Given the description of an element on the screen output the (x, y) to click on. 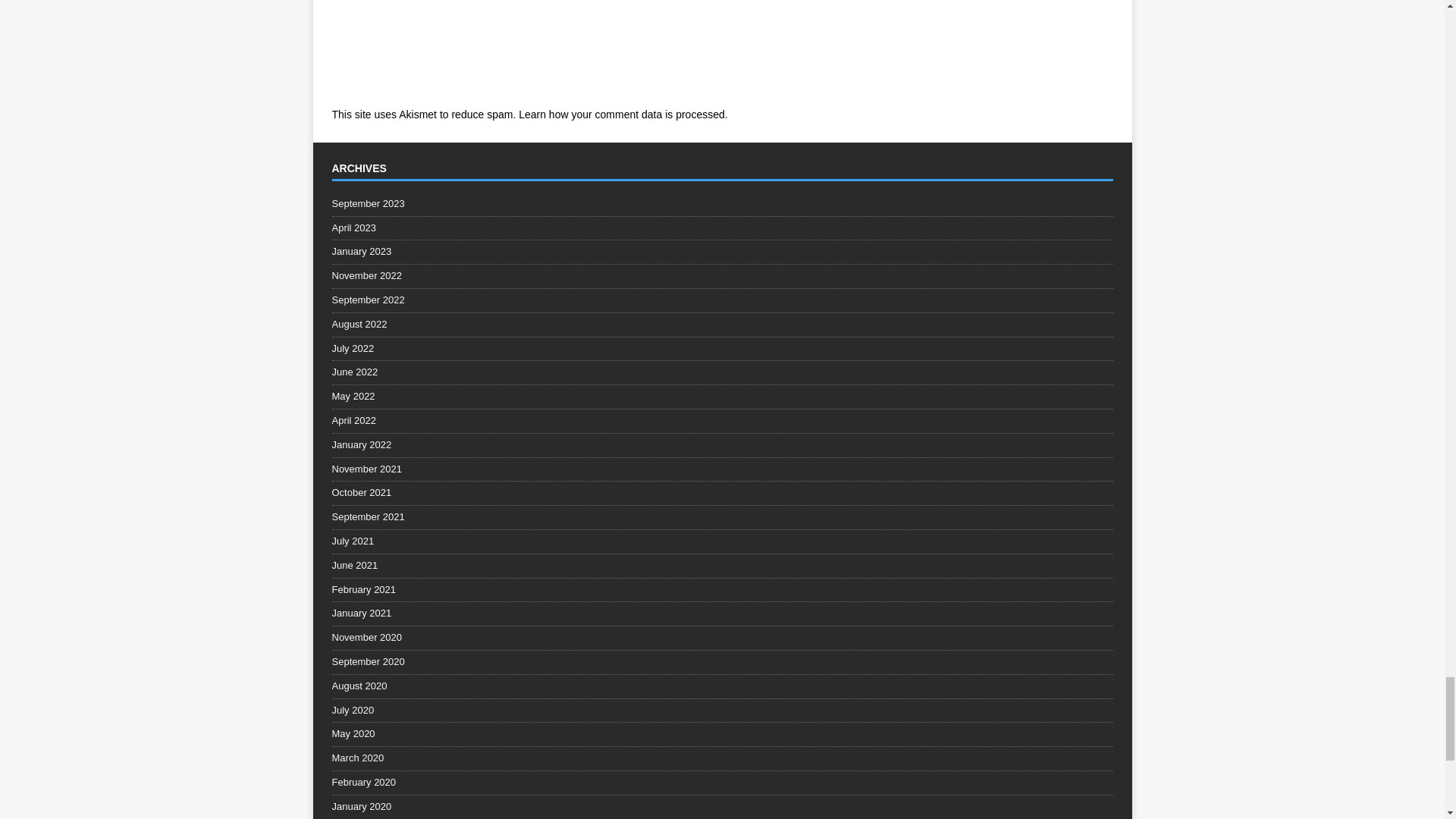
July 2022 (722, 349)
September 2022 (722, 300)
April 2023 (722, 228)
May 2022 (722, 396)
April 2022 (722, 421)
September 2023 (722, 206)
November 2022 (722, 276)
June 2022 (722, 372)
Comment Form (588, 50)
January 2023 (722, 251)
August 2022 (722, 324)
Learn how your comment data is processed (621, 114)
